Given the description of an element on the screen output the (x, y) to click on. 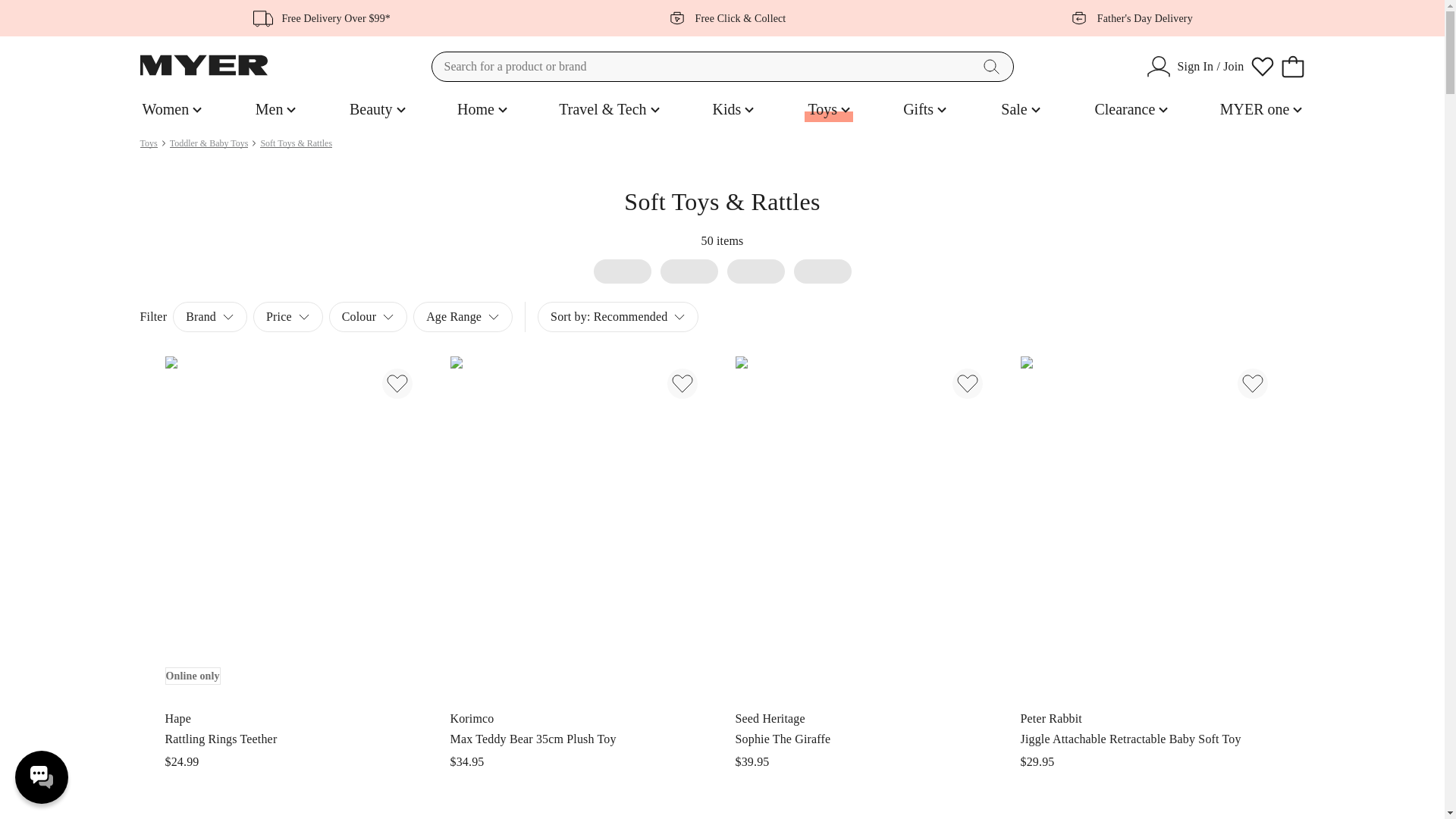
Toys (148, 143)
Women (171, 109)
Kids (733, 109)
MYER one (1260, 109)
Gifts (925, 109)
Colour (368, 317)
Click here to toggle the virtual assistant (41, 777)
Clearance (617, 317)
Father's Day Delivery (1131, 109)
Age Range (1126, 18)
Men (462, 317)
Price (275, 109)
Sale (288, 317)
Beauty (1020, 109)
